Given the description of an element on the screen output the (x, y) to click on. 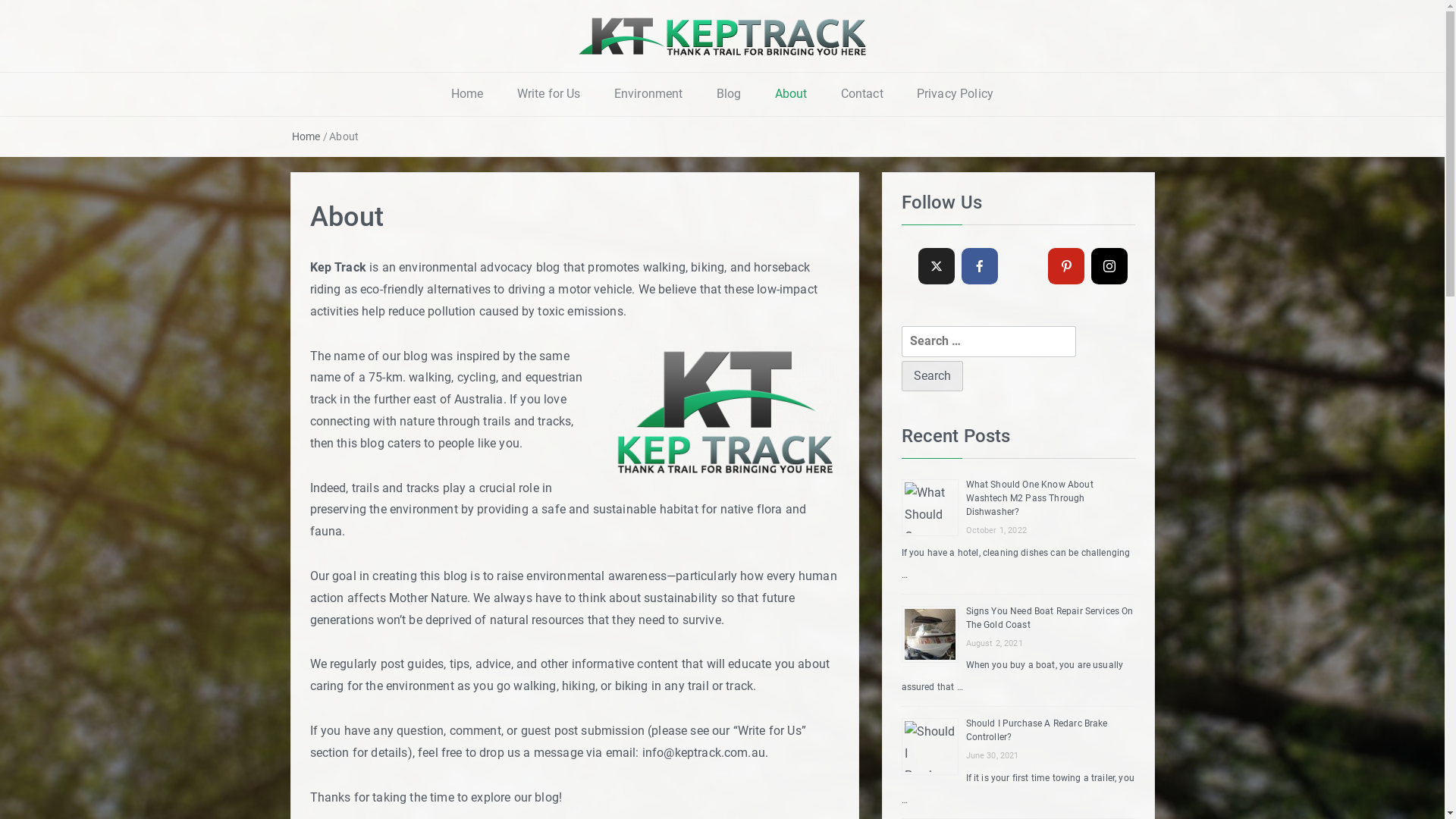
twitter Element type: text (935, 265)
Blog Element type: text (728, 94)
Write for Us Element type: text (549, 94)
facebook Element type: text (979, 265)
pinterest Element type: text (1066, 265)
Environment Element type: text (648, 94)
Search Element type: text (931, 375)
About Element type: text (790, 94)
Should I Purchase A Redarc Brake Controller? Element type: text (1036, 730)
Home Element type: text (467, 94)
info@keptrack.com.au Element type: text (703, 752)
instagram Element type: text (1109, 265)
Home Element type: text (305, 136)
Contact Element type: text (861, 94)
Signs You Need Boat Repair Services On The Gold Coast Element type: text (1049, 617)
google-plus Element type: text (1022, 265)
Privacy Policy Element type: text (954, 94)
